Given the description of an element on the screen output the (x, y) to click on. 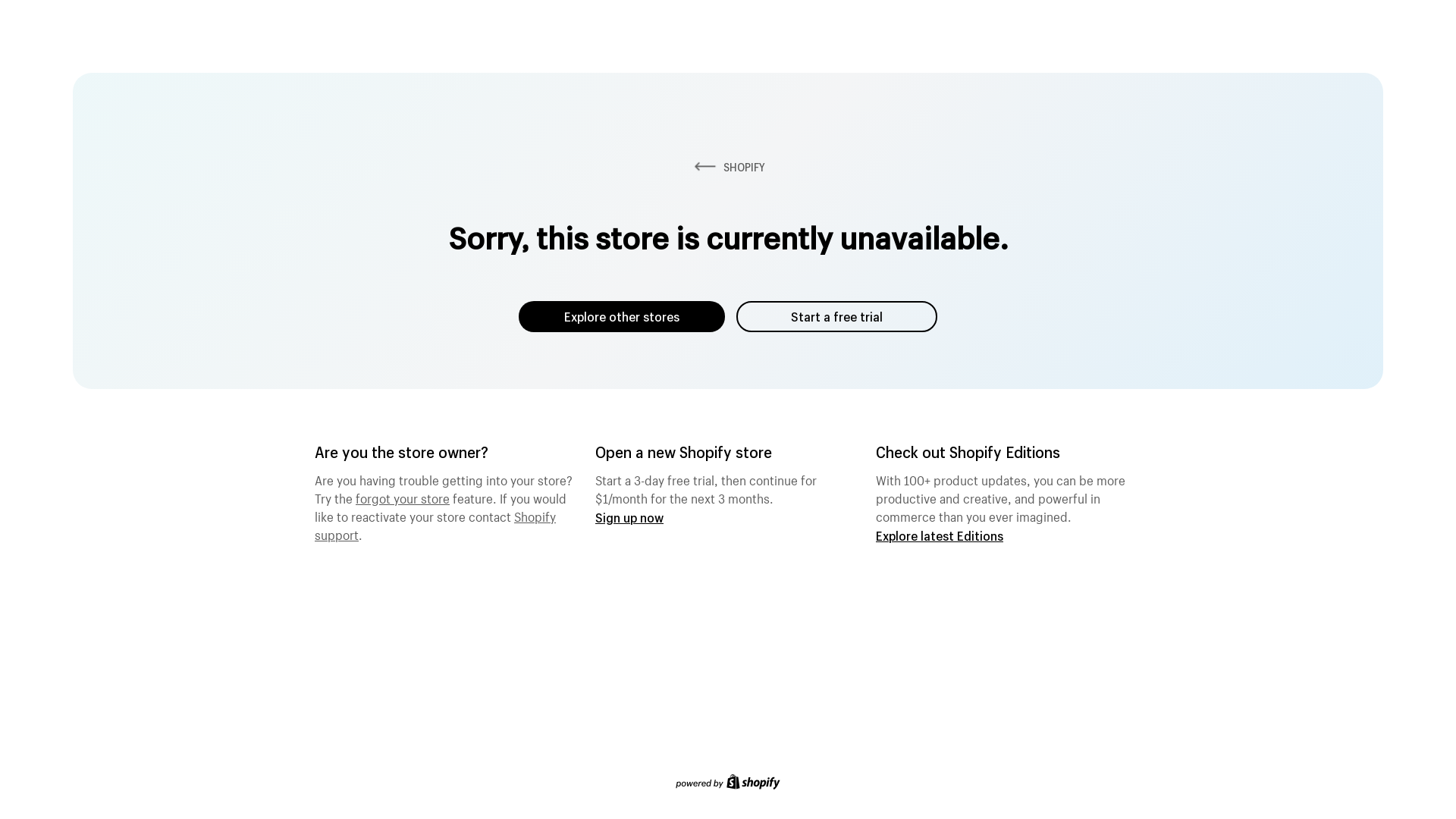
Shopify support Element type: text (434, 523)
Explore other stores Element type: text (621, 316)
forgot your store Element type: text (402, 496)
Start a free trial Element type: text (836, 316)
Explore latest Editions Element type: text (939, 535)
SHOPIFY Element type: text (727, 167)
Sign up now Element type: text (629, 517)
